Given the description of an element on the screen output the (x, y) to click on. 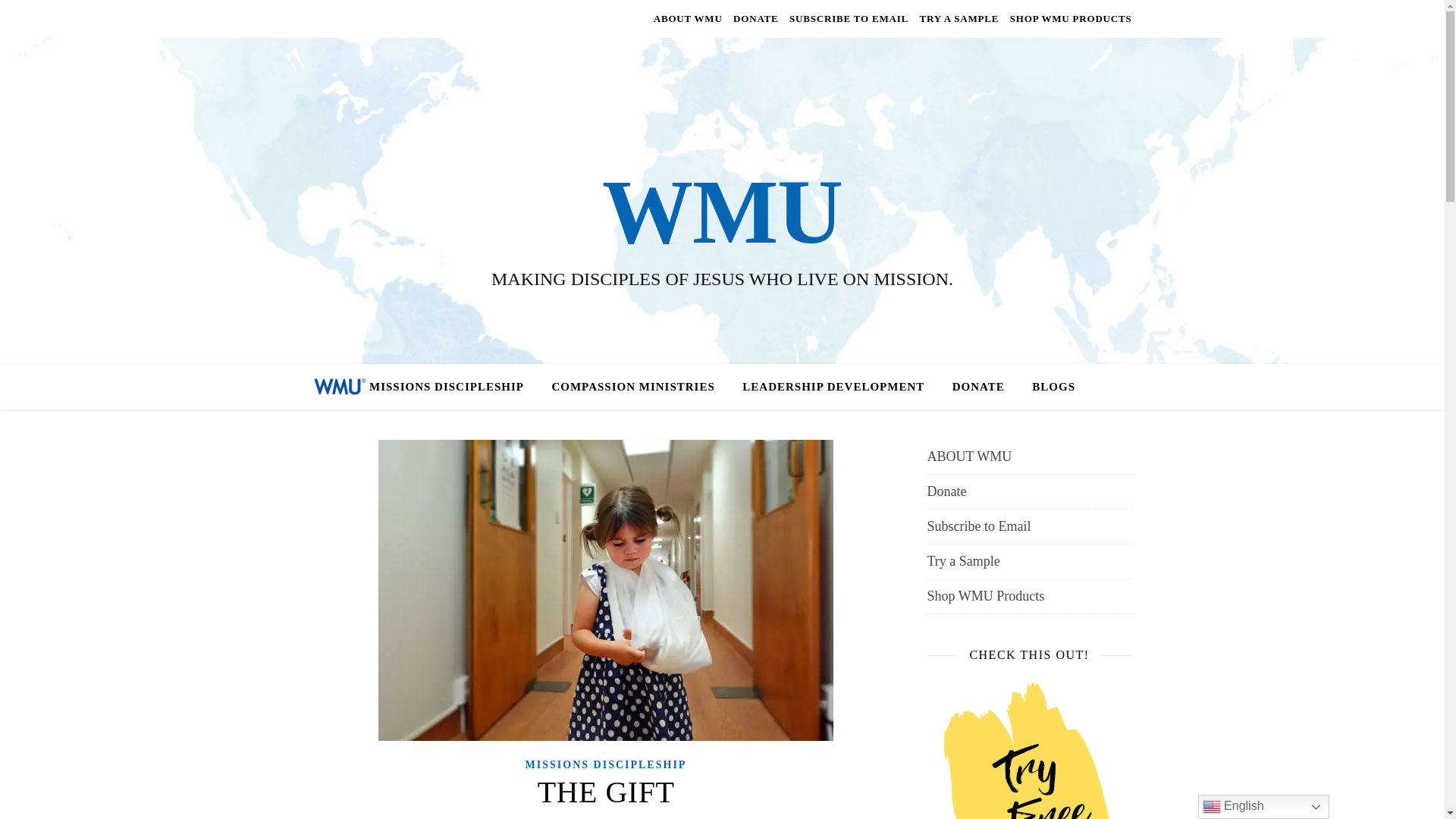
ABOUT WMU (689, 18)
WMU (722, 212)
COMPASSION MINISTRIES (632, 386)
MISSIONS DISCIPLESHIP (452, 386)
Try a Sample (1028, 561)
DONATE (978, 386)
LEADERSHIP DEVELOPMENT (833, 386)
BLOGS (1047, 386)
MISSIONS DISCIPLESHIP (606, 764)
ABOUT WMU (1028, 457)
CHECK THIS OUT! (1028, 747)
TRY A SAMPLE (959, 18)
Donate (1028, 492)
SUBSCRIBE TO EMAIL (849, 18)
